Given the description of an element on the screen output the (x, y) to click on. 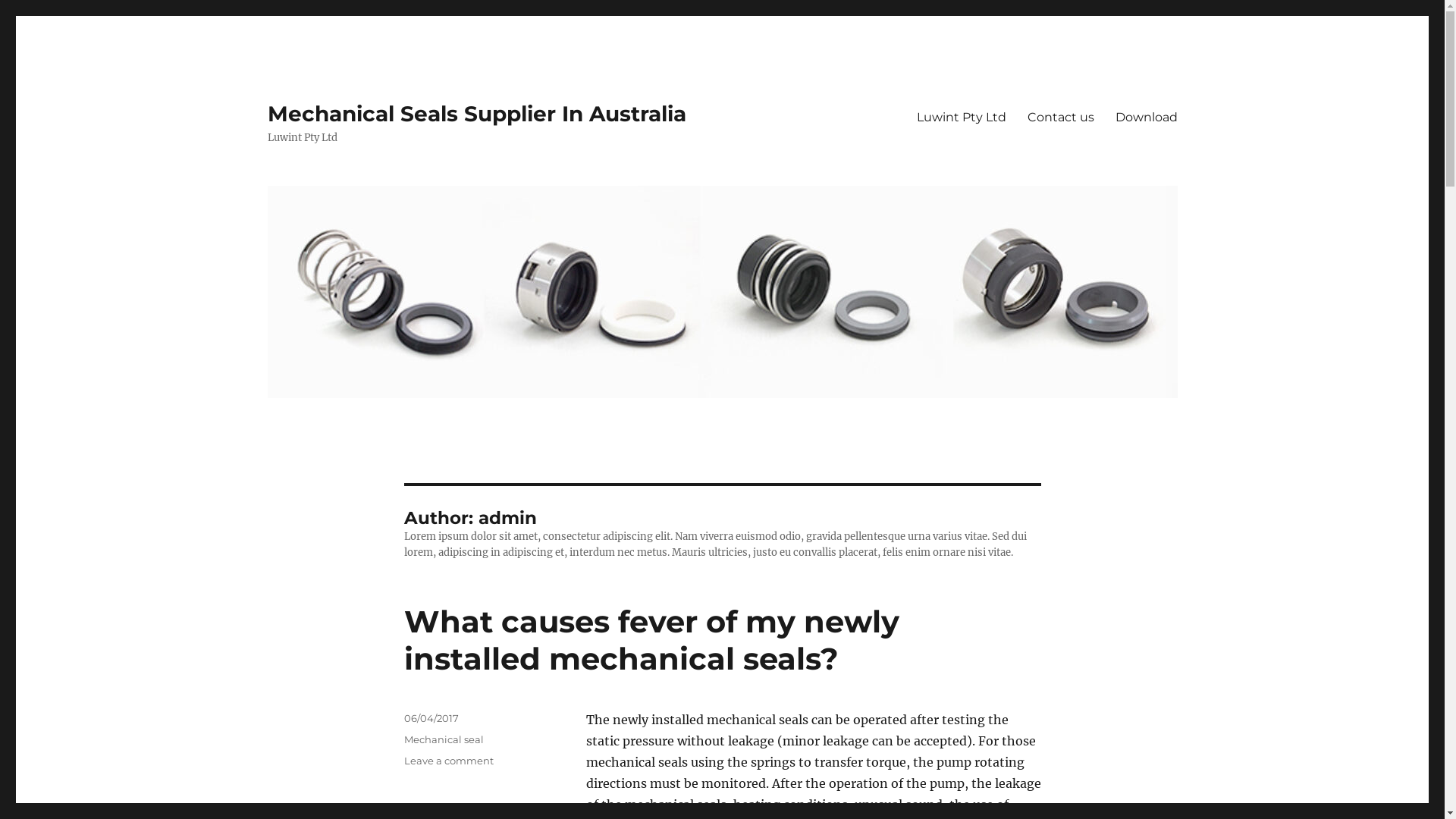
Mechanical seal Element type: text (443, 739)
06/04/2017 Element type: text (430, 718)
Mechanical Seals Supplier In Australia Element type: text (475, 113)
What causes fever of my newly installed mechanical seals? Element type: text (650, 639)
Download Element type: text (1145, 116)
Contact us Element type: text (1060, 116)
Luwint Pty Ltd Element type: text (960, 116)
